Given the description of an element on the screen output the (x, y) to click on. 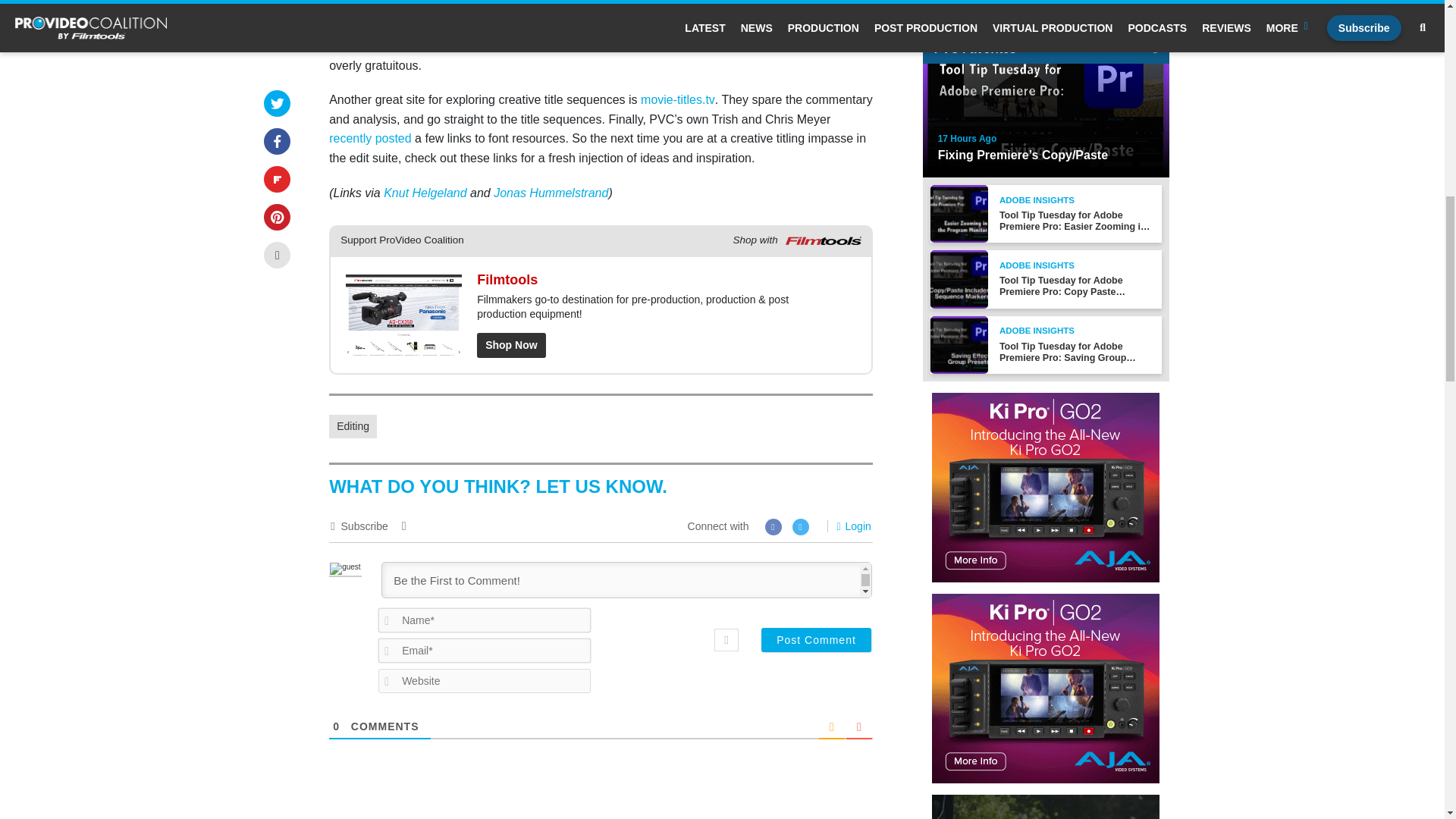
Post Comment (815, 639)
